Given the description of an element on the screen output the (x, y) to click on. 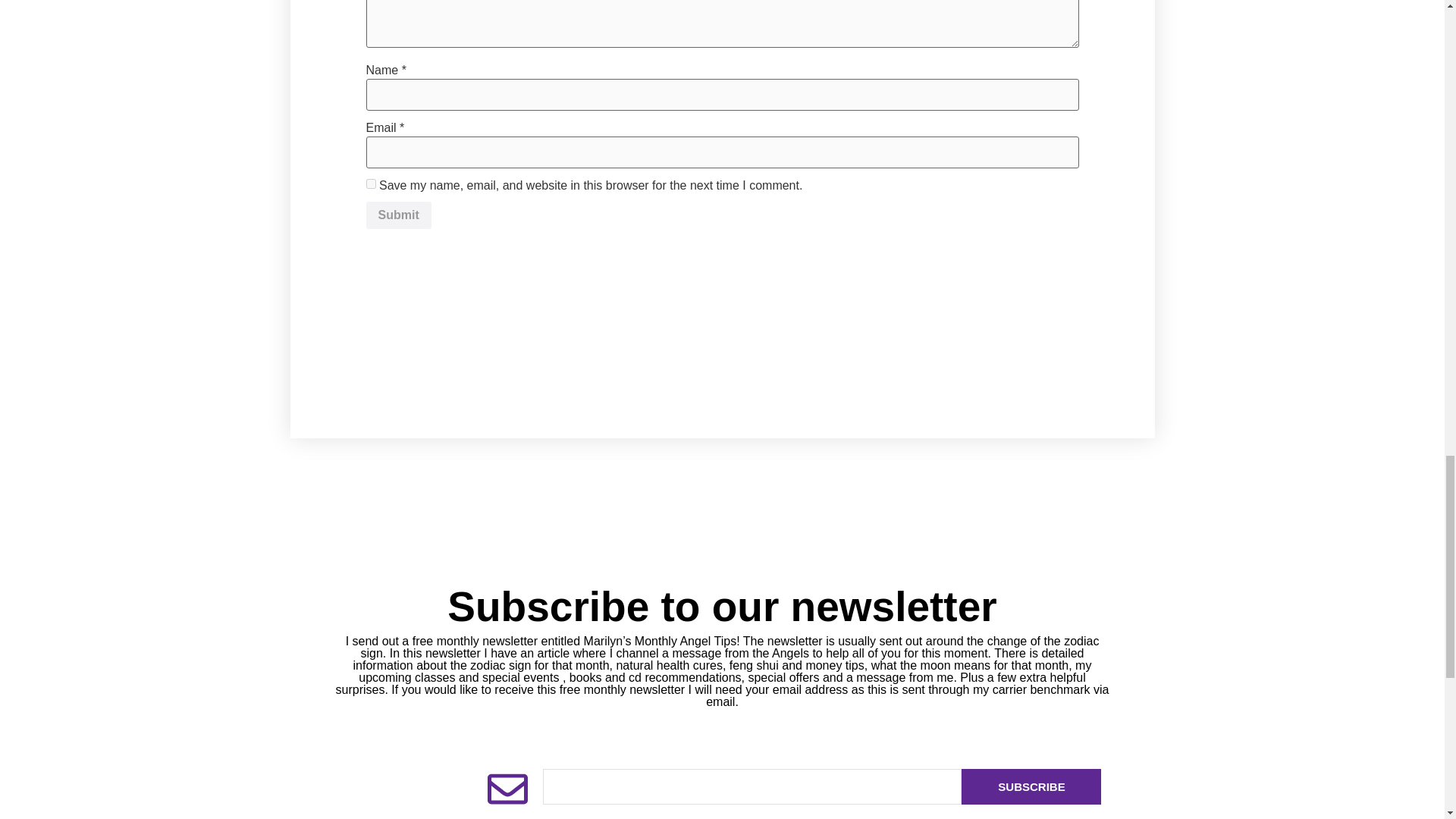
yes (370, 184)
Submit (397, 215)
